Given the description of an element on the screen output the (x, y) to click on. 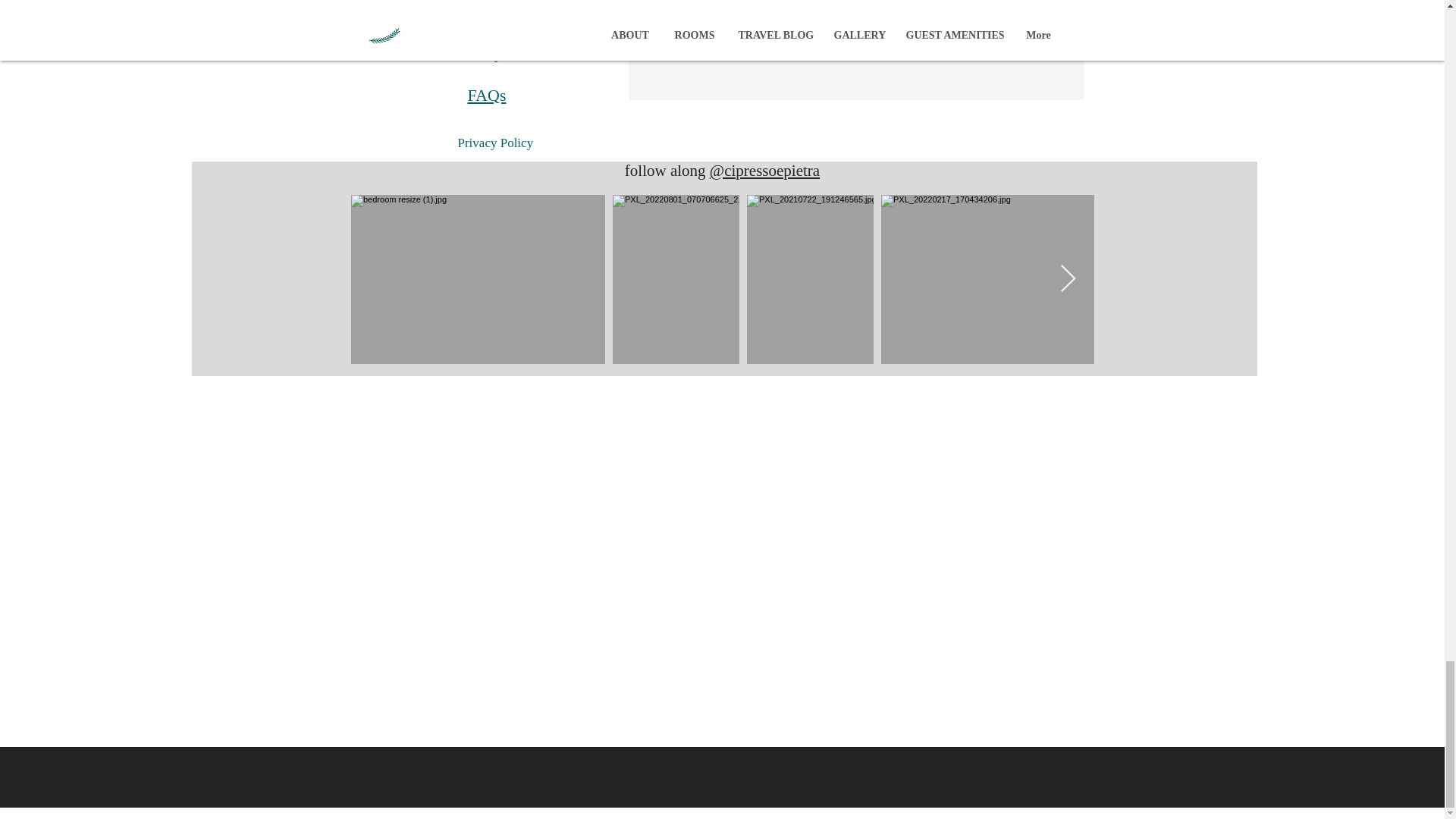
Submit (854, 29)
FAQs (486, 94)
Privacy Policy (496, 142)
